Given the description of an element on the screen output the (x, y) to click on. 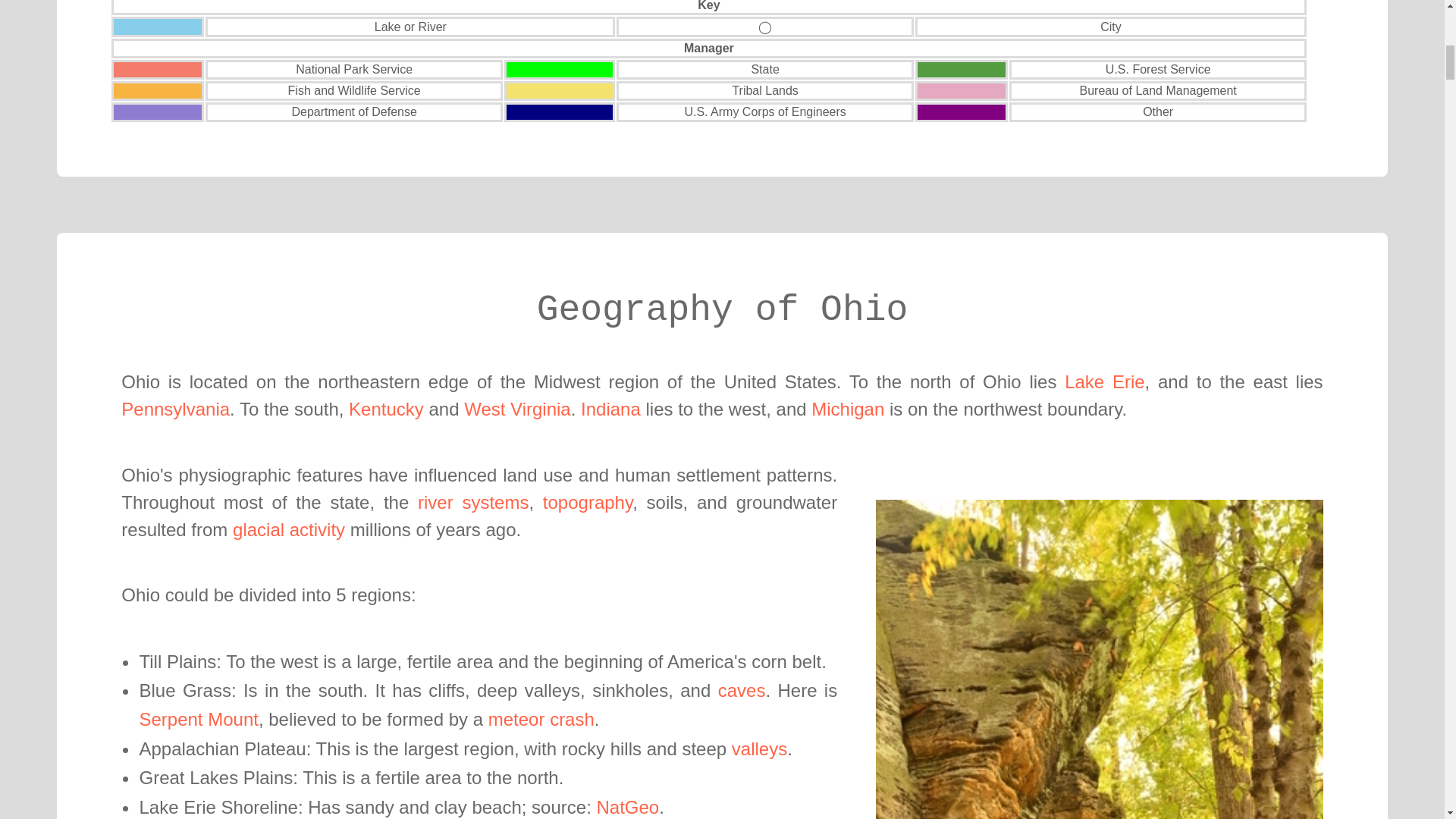
Pennsylvania (175, 408)
West Virginia (517, 408)
glacial activity (288, 529)
river systems (472, 502)
Michigan (846, 408)
topography (587, 502)
Serpent Mount (197, 719)
Indiana (610, 408)
caves (741, 690)
Lake Erie (1104, 381)
